Given the description of an element on the screen output the (x, y) to click on. 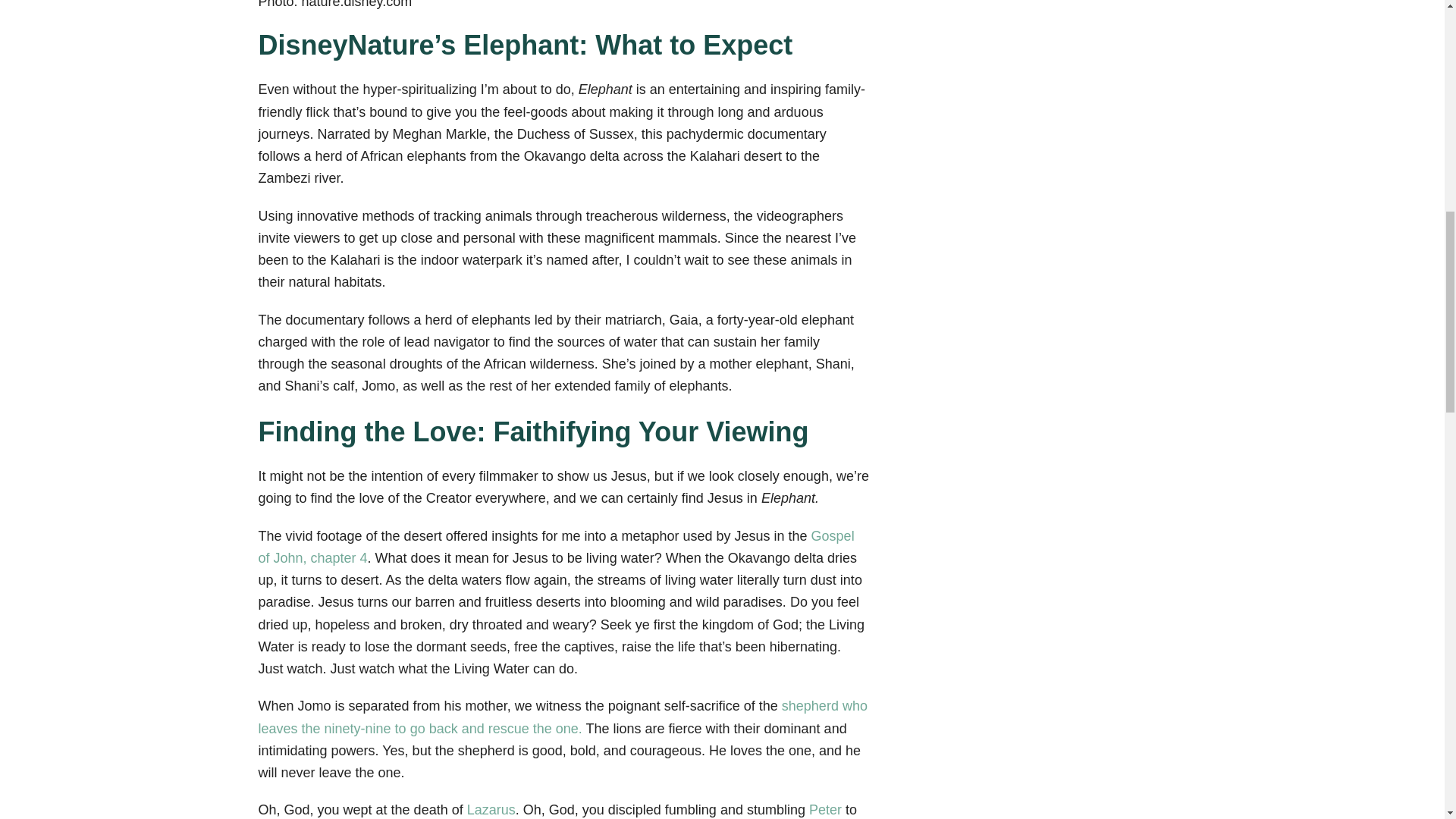
Lazarus (489, 809)
Gospel of John, chapter 4 (555, 546)
Peter (827, 809)
